Given the description of an element on the screen output the (x, y) to click on. 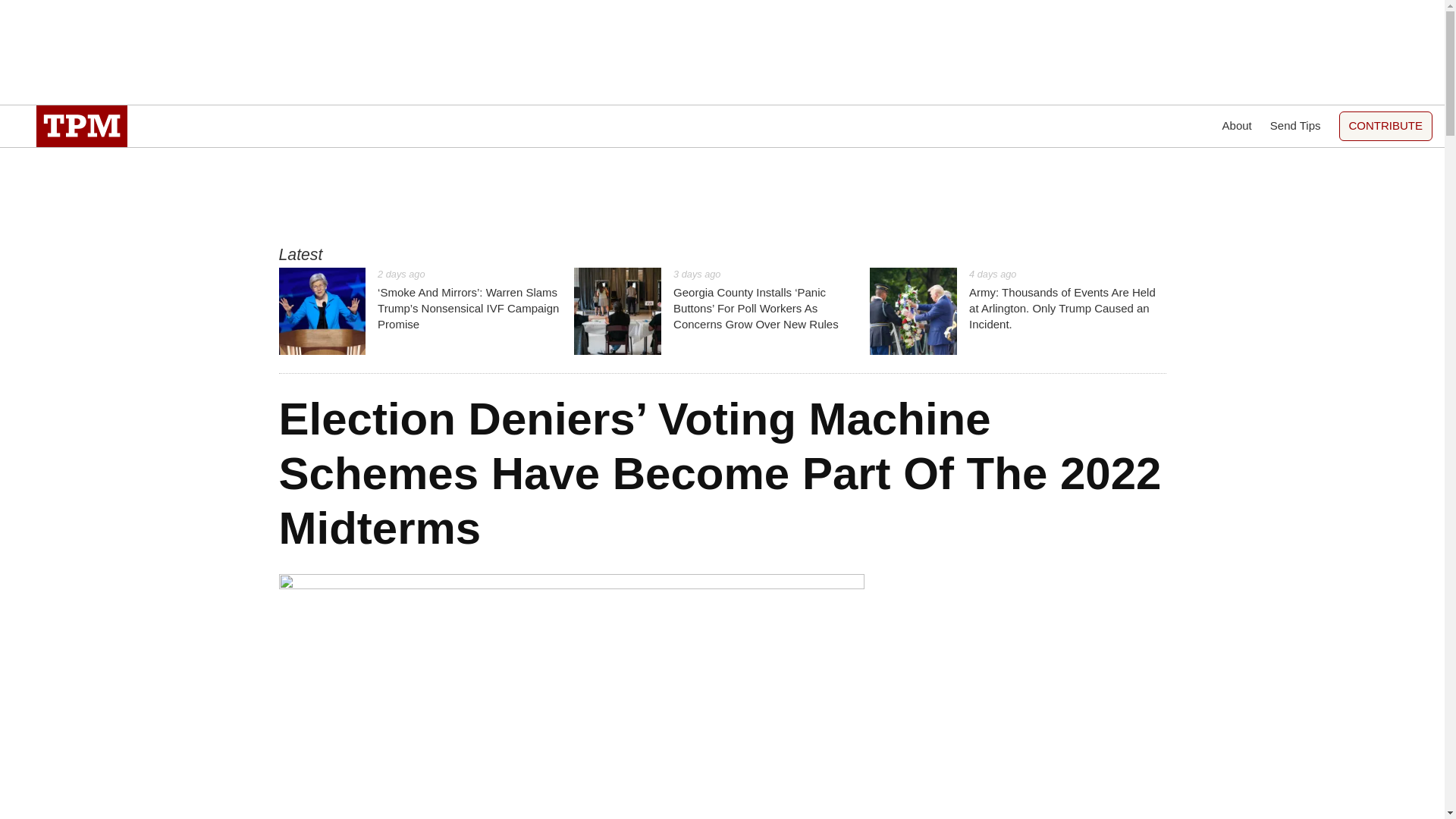
CONTRIBUTE (1385, 125)
About (1237, 125)
Send Tips (1294, 125)
